Given the description of an element on the screen output the (x, y) to click on. 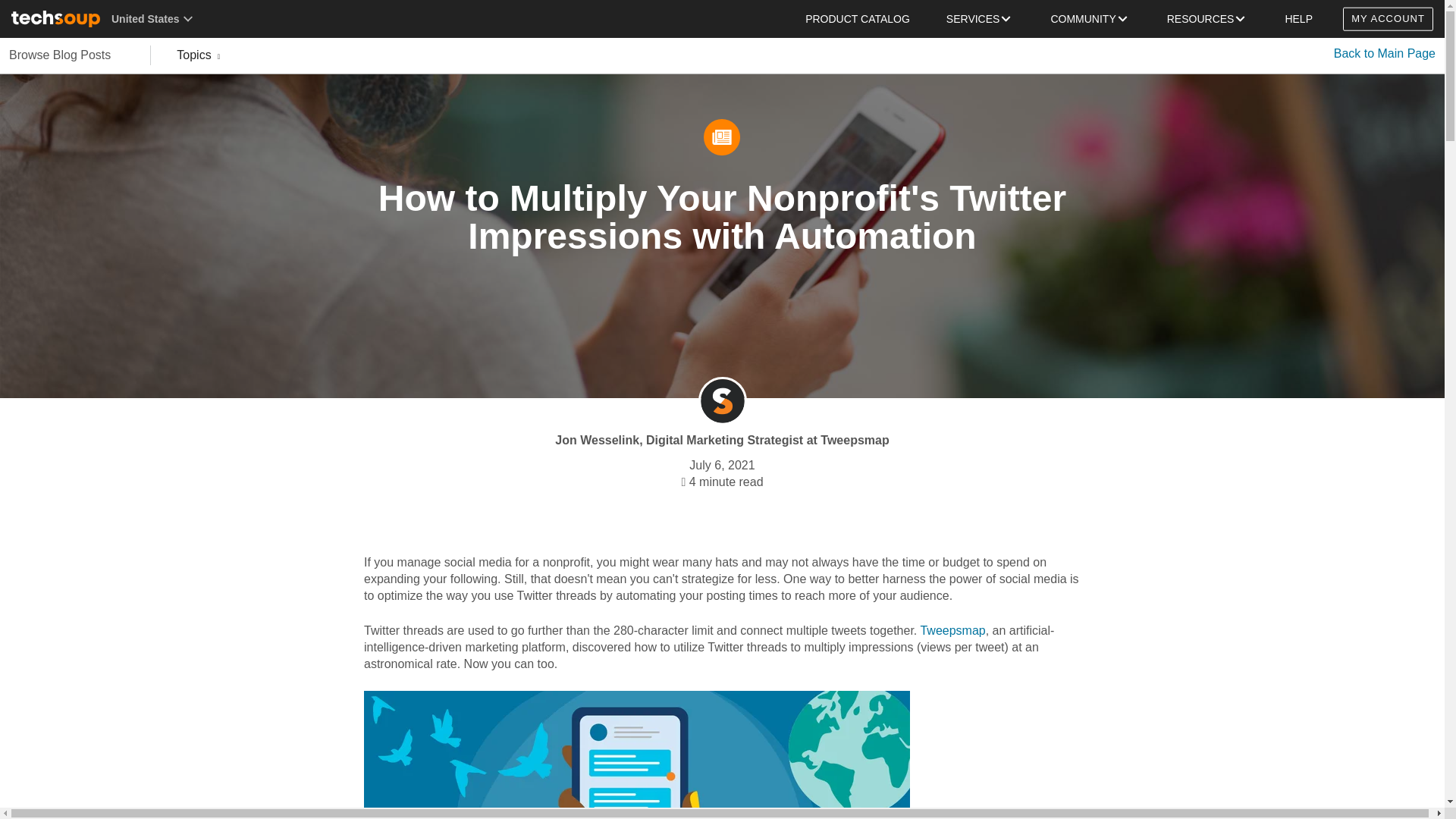
RESOURCES (1207, 18)
PRODUCT CATALOG (857, 18)
Topics (197, 55)
HELP (1298, 18)
Back to Main Page (1384, 52)
SERVICES (980, 18)
COMMUNITY (1090, 18)
MY ACCOUNT (1387, 19)
